Given the description of an element on the screen output the (x, y) to click on. 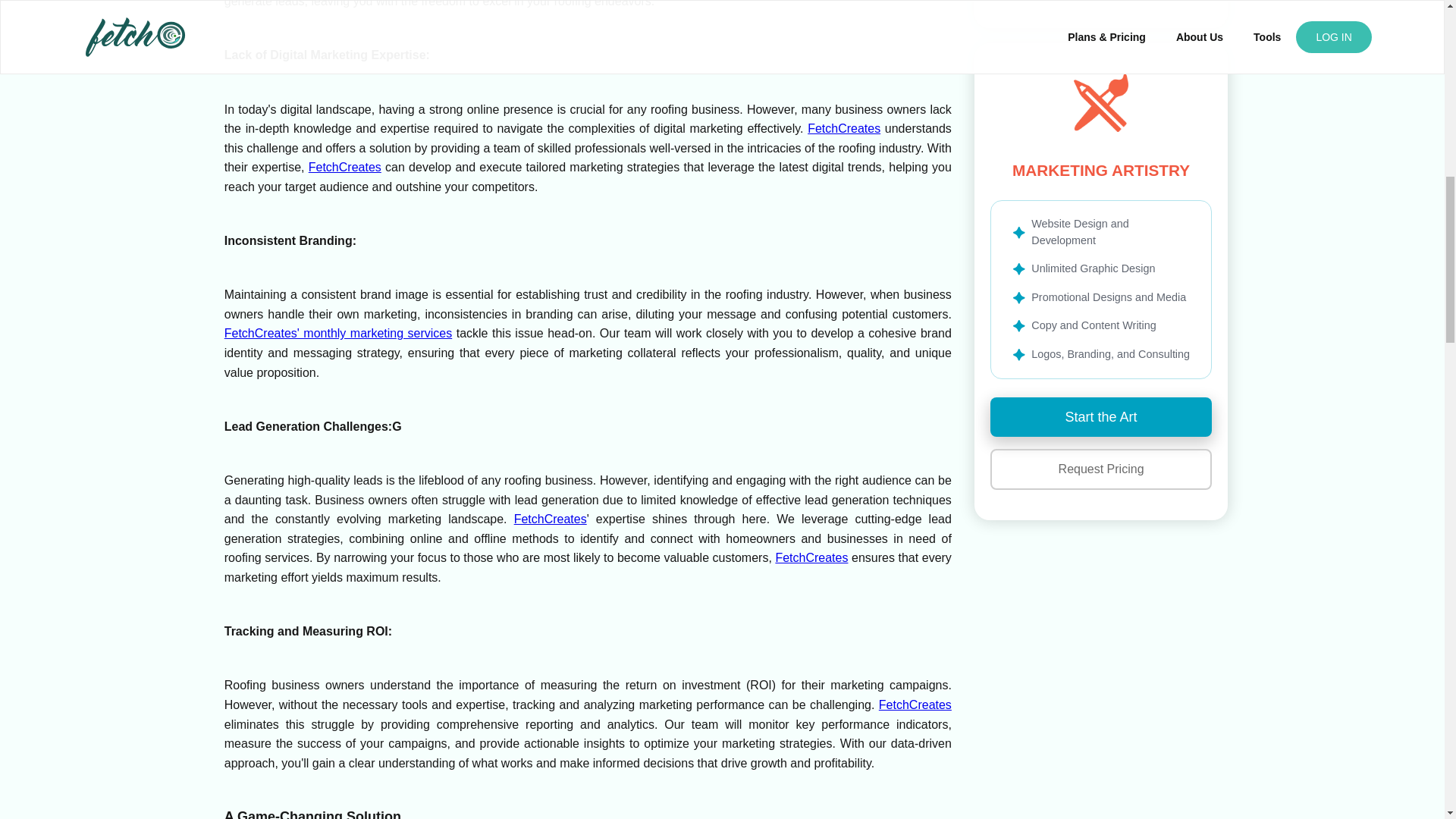
FetchCreates (810, 557)
FetchCreates' monthly marketing services (337, 332)
FetchCreates (915, 704)
Request Pricing (1101, 468)
FetchCreates (549, 518)
Start the Art (1101, 417)
FetchCreates (844, 128)
FetchCreates (344, 166)
